Given the description of an element on the screen output the (x, y) to click on. 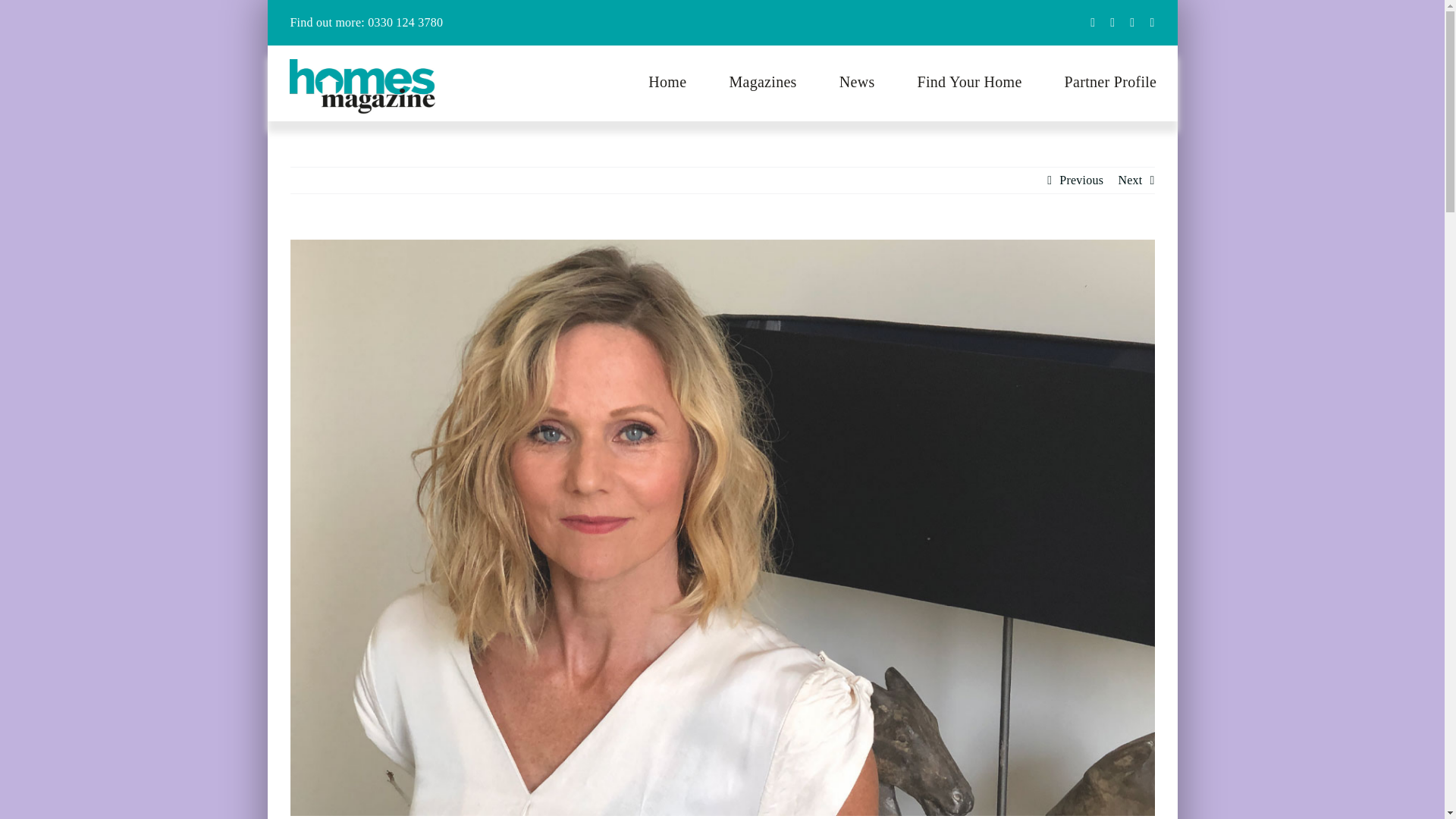
Home (667, 83)
Partner Profile (1110, 83)
Previous (1081, 180)
Find Your Home (968, 83)
Find out more: 0330 124 3780 (721, 22)
Next (1129, 180)
View Larger Image (721, 83)
